Given the description of an element on the screen output the (x, y) to click on. 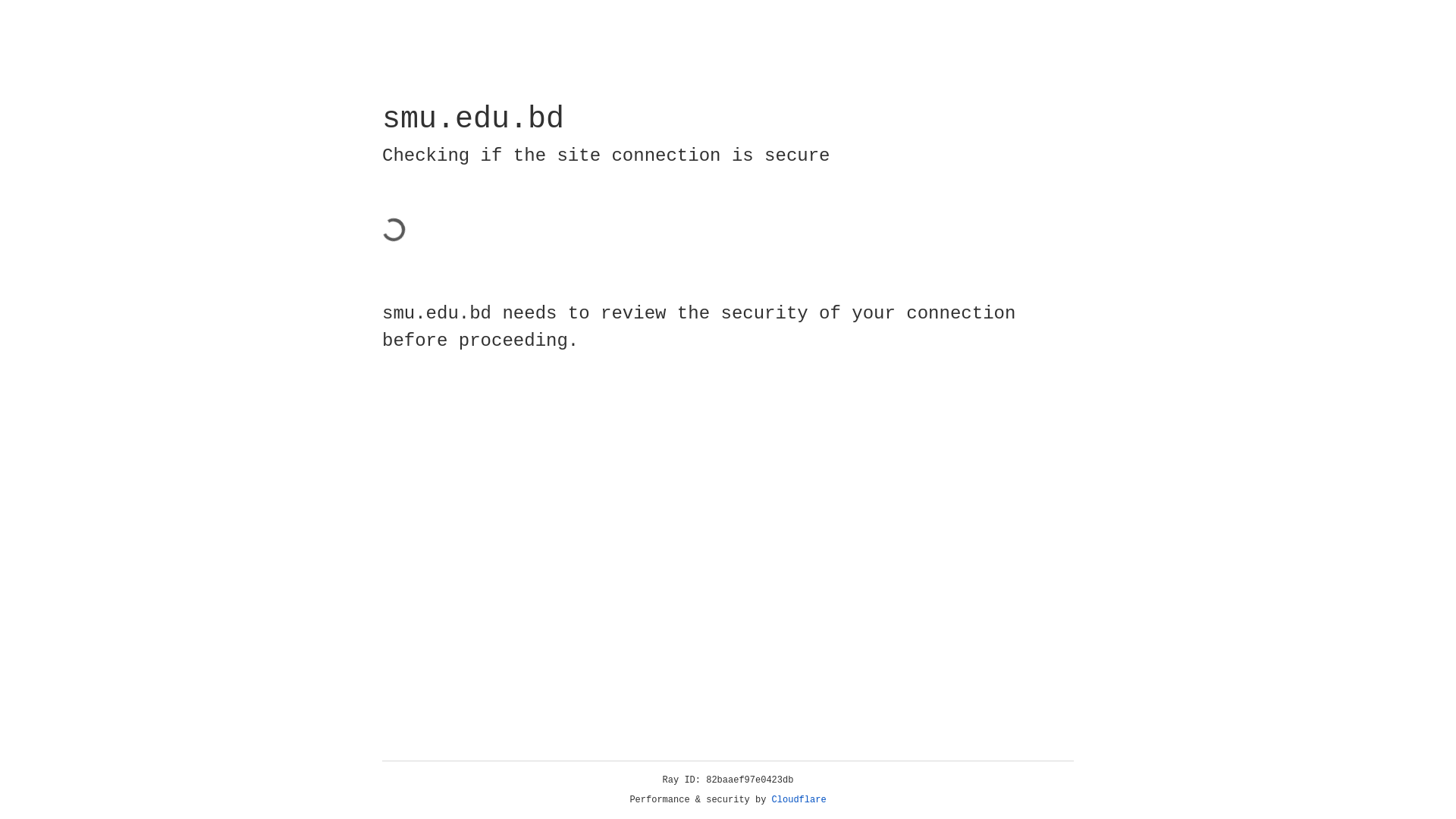
Cloudflare Element type: text (798, 799)
